Given the description of an element on the screen output the (x, y) to click on. 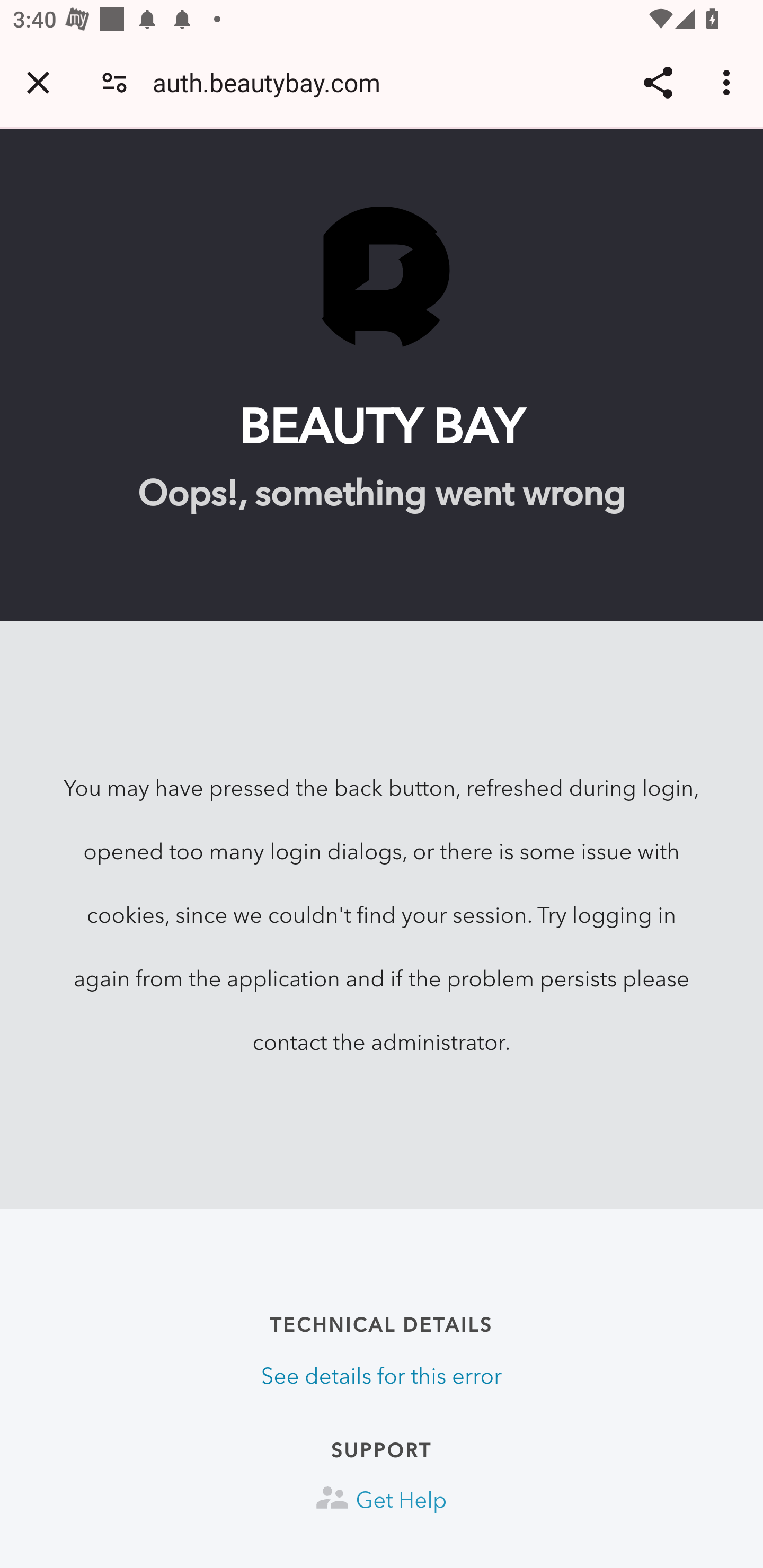
Close tab (38, 82)
Share (657, 82)
Customize and control Google Chrome (729, 82)
Connection is secure (114, 81)
auth.beautybay.com (272, 81)
See details for this error (381, 1376)
Get Help (381, 1500)
